Given the description of an element on the screen output the (x, y) to click on. 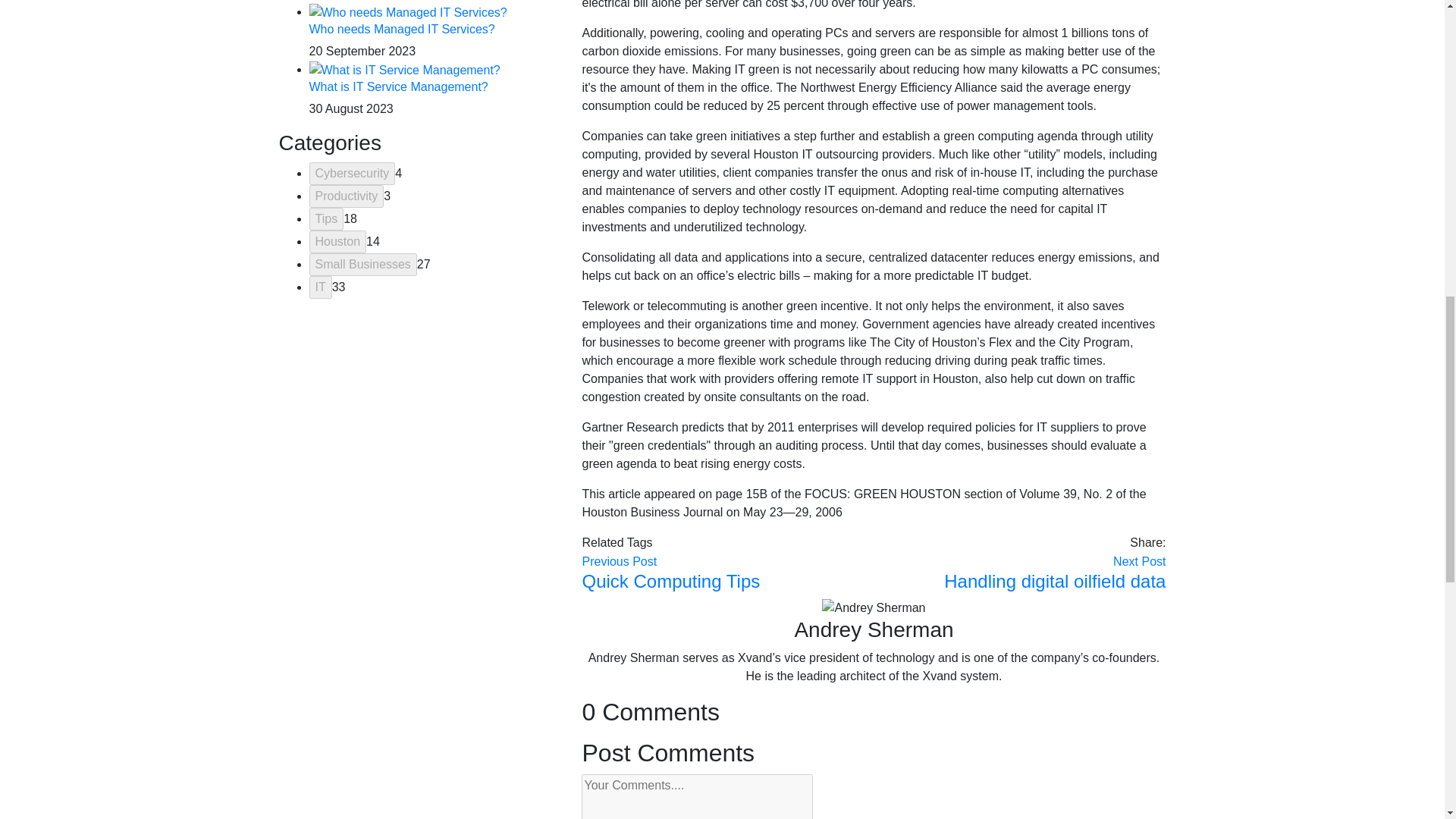
Small Businesses (362, 264)
Houston (337, 241)
Cybersecurity (352, 173)
Productivity (346, 196)
IT (319, 287)
Tips (325, 219)
